Given the description of an element on the screen output the (x, y) to click on. 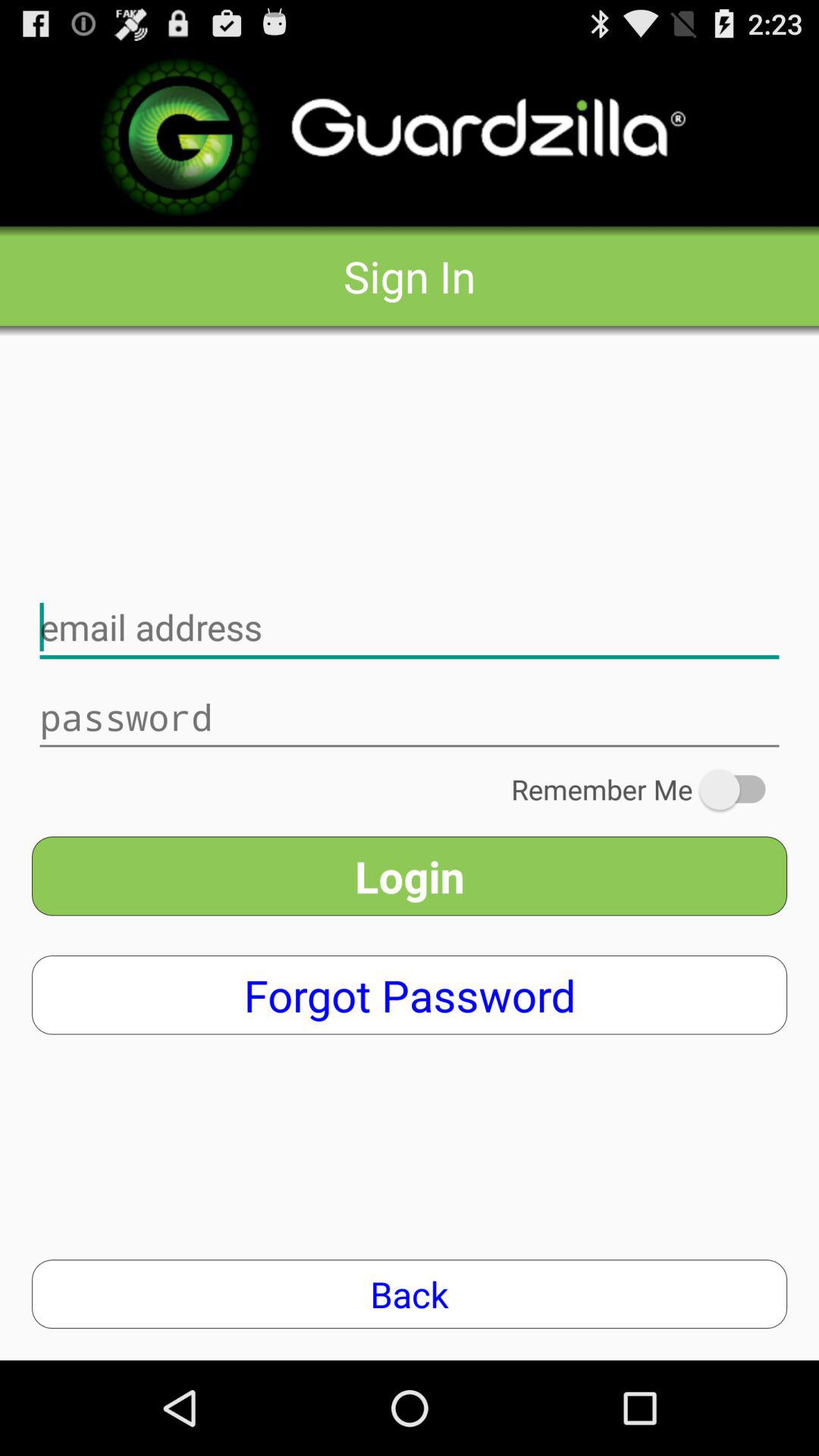
press app above the back item (409, 994)
